Given the description of an element on the screen output the (x, y) to click on. 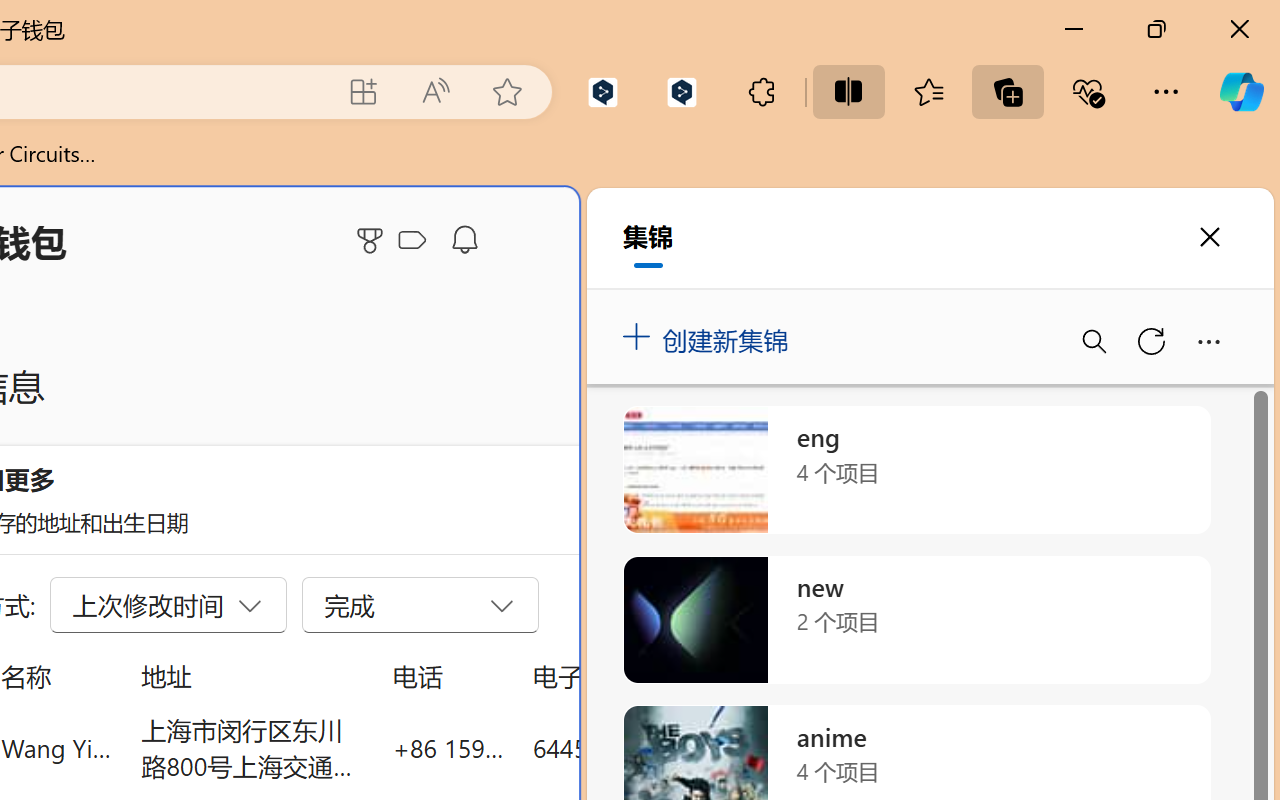
+86 159 0032 4640 (447, 747)
Class: ___1lmltc5 f1agt3bx f12qytpq (411, 241)
Microsoft Cashback (415, 241)
